Given the description of an element on the screen output the (x, y) to click on. 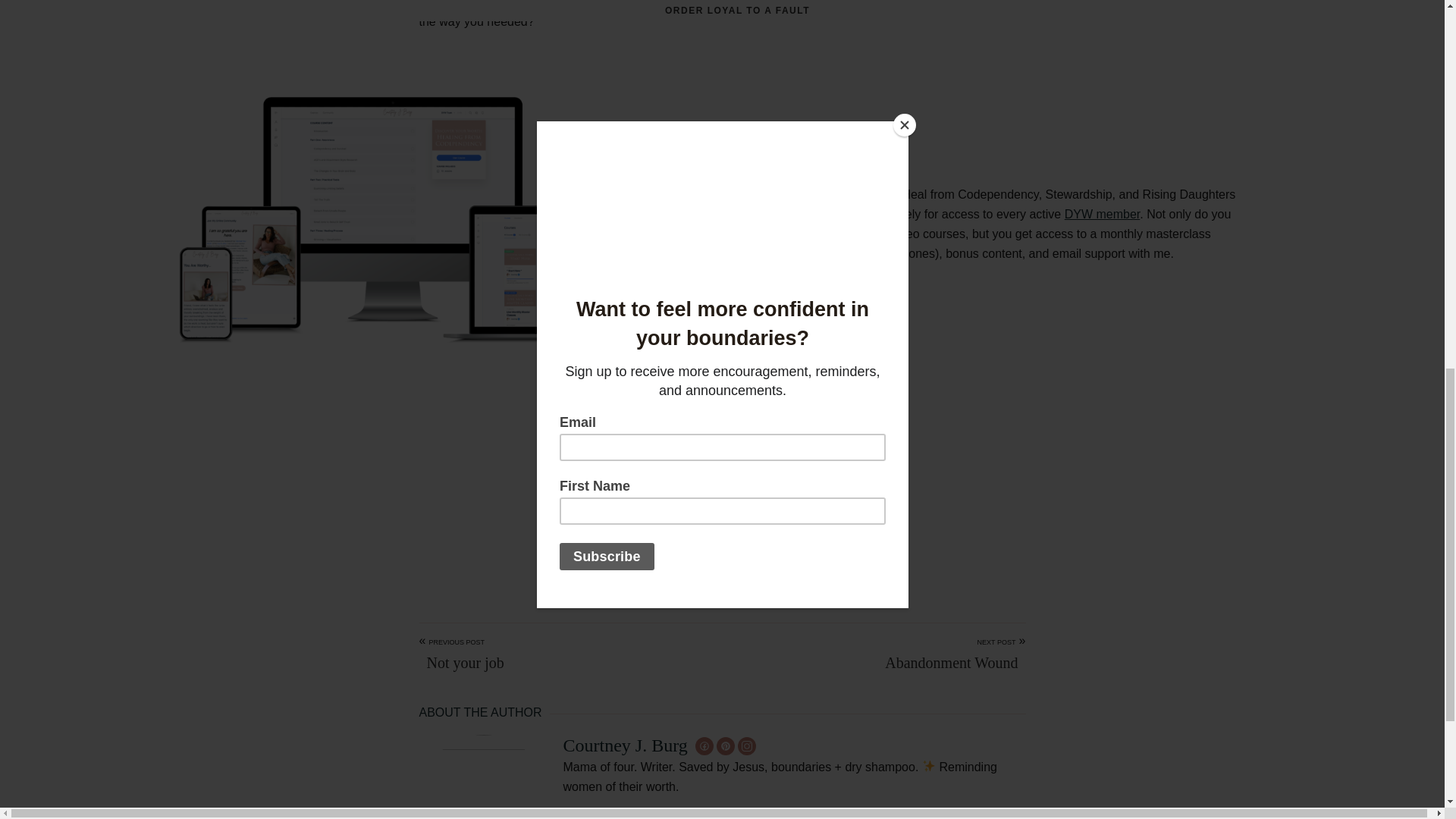
Join us today (754, 402)
DYW member (1102, 214)
Not your job (461, 662)
Join Today (721, 478)
Threads (737, 551)
Pinterest (676, 551)
Facebook (706, 551)
Threads (737, 551)
Facebook (706, 551)
Pinterest (676, 551)
